Given the description of an element on the screen output the (x, y) to click on. 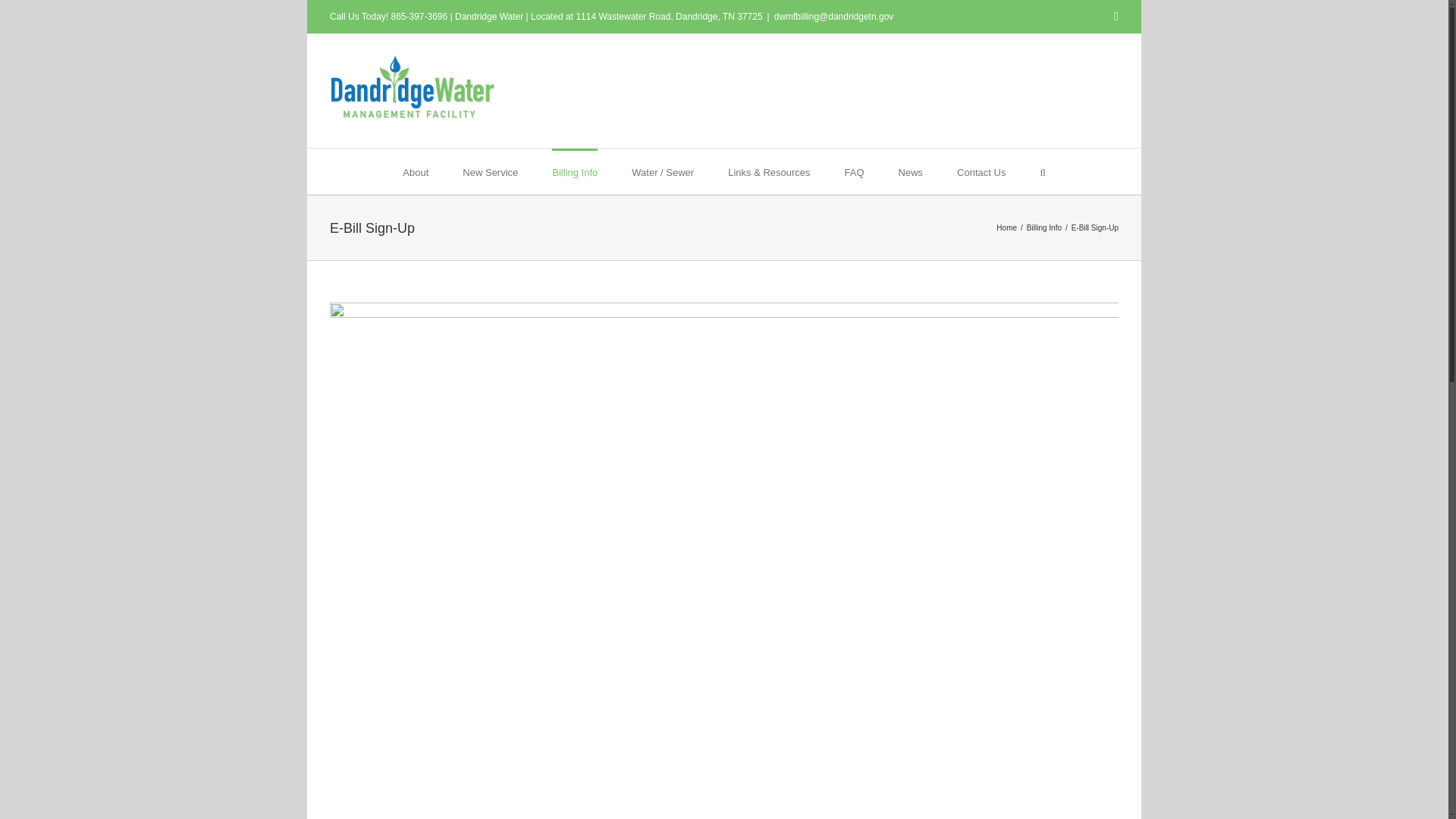
New Service (490, 171)
Contact Us (981, 171)
Billing Info (573, 171)
